Given the description of an element on the screen output the (x, y) to click on. 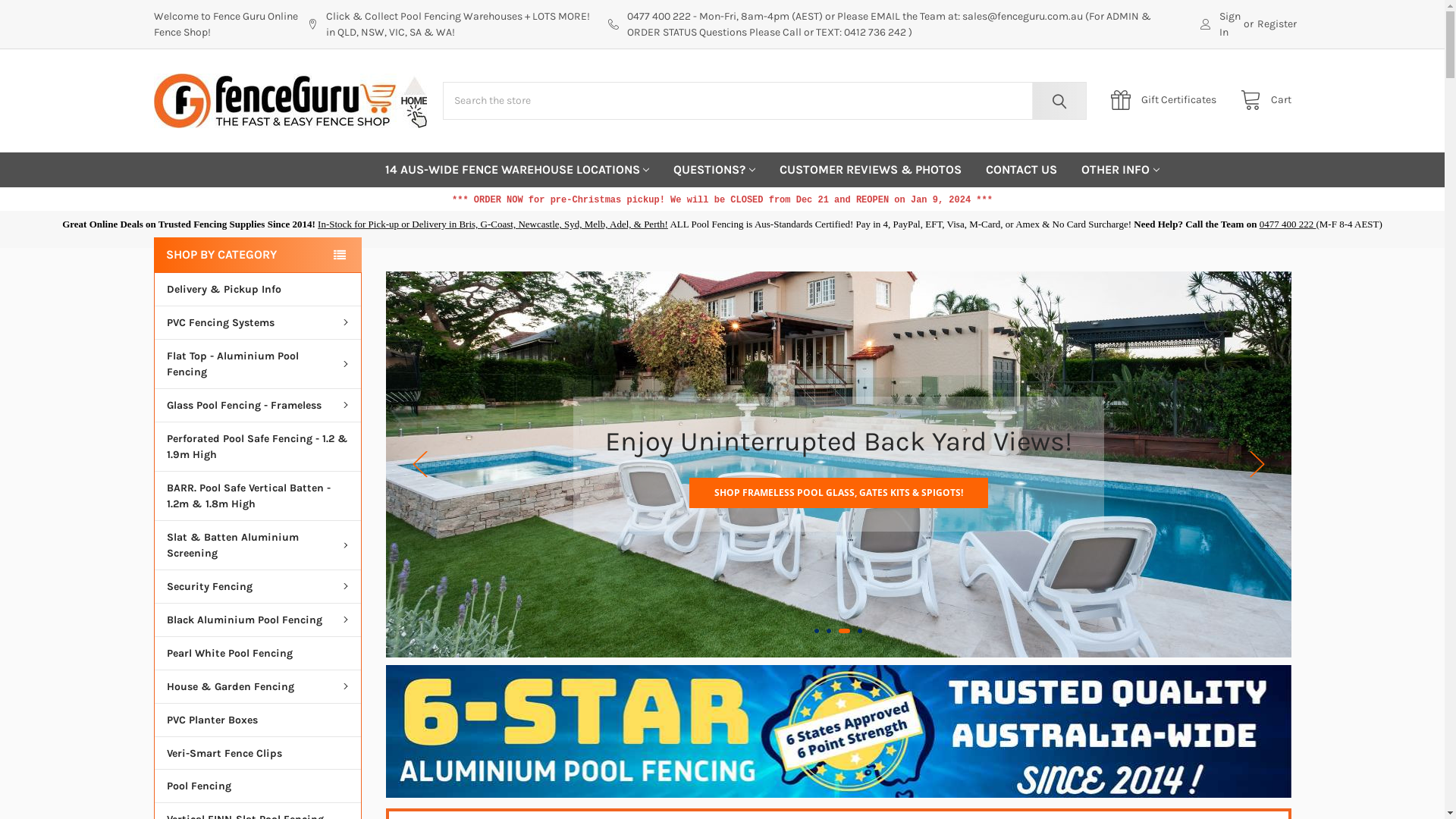
Register Element type: text (1276, 23)
2 Element type: text (831, 630)
Black Aluminium Pool Fencing Element type: text (257, 619)
Next Element type: text (1257, 464)
0477 400 222  Element type: text (1287, 223)
OTHER INFO Element type: text (1120, 169)
3 Element type: text (847, 630)
CONTACT US Element type: text (1021, 169)
Gift Certificates Element type: text (1167, 100)
Search Element type: text (1054, 100)
Pool Fencing Element type: text (257, 785)
Previous Element type: text (419, 464)
14 AUS-WIDE FENCE WAREHOUSE LOCATIONS Element type: text (517, 169)
Cart Element type: text (1261, 100)
PVC Planter Boxes Element type: text (257, 719)
QUESTIONS? Element type: text (714, 169)
SHOP BY CATEGORY Element type: text (256, 254)
Security Fencing Element type: text (257, 585)
1 Element type: text (816, 630)
Sign In Element type: text (1220, 24)
Slat & Batten Aluminium Screening Element type: text (257, 544)
House & Garden Fencing Element type: text (257, 685)
Delivery & Pickup Info Element type: text (257, 289)
4 Element type: text (859, 630)
Glass Pool Fencing - Frameless Element type: text (257, 404)
Fence Guru Online Fence Shop Element type: hover (289, 100)
BARR. Pool Safe Vertical Batten - 1.2m & 1.8m High Element type: text (257, 495)
Flat Top - Aluminium Pool Fencing Element type: text (257, 363)
PVC Fencing Systems Element type: text (257, 321)
CUSTOMER REVIEWS & PHOTOS Element type: text (870, 169)
Perforated Pool Safe Fencing - 1.2 & 1.9m High Element type: text (257, 445)
Pearl White Pool Fencing Element type: text (257, 652)
Veri-Smart Fence Clips Element type: text (257, 752)
